Given the description of an element on the screen output the (x, y) to click on. 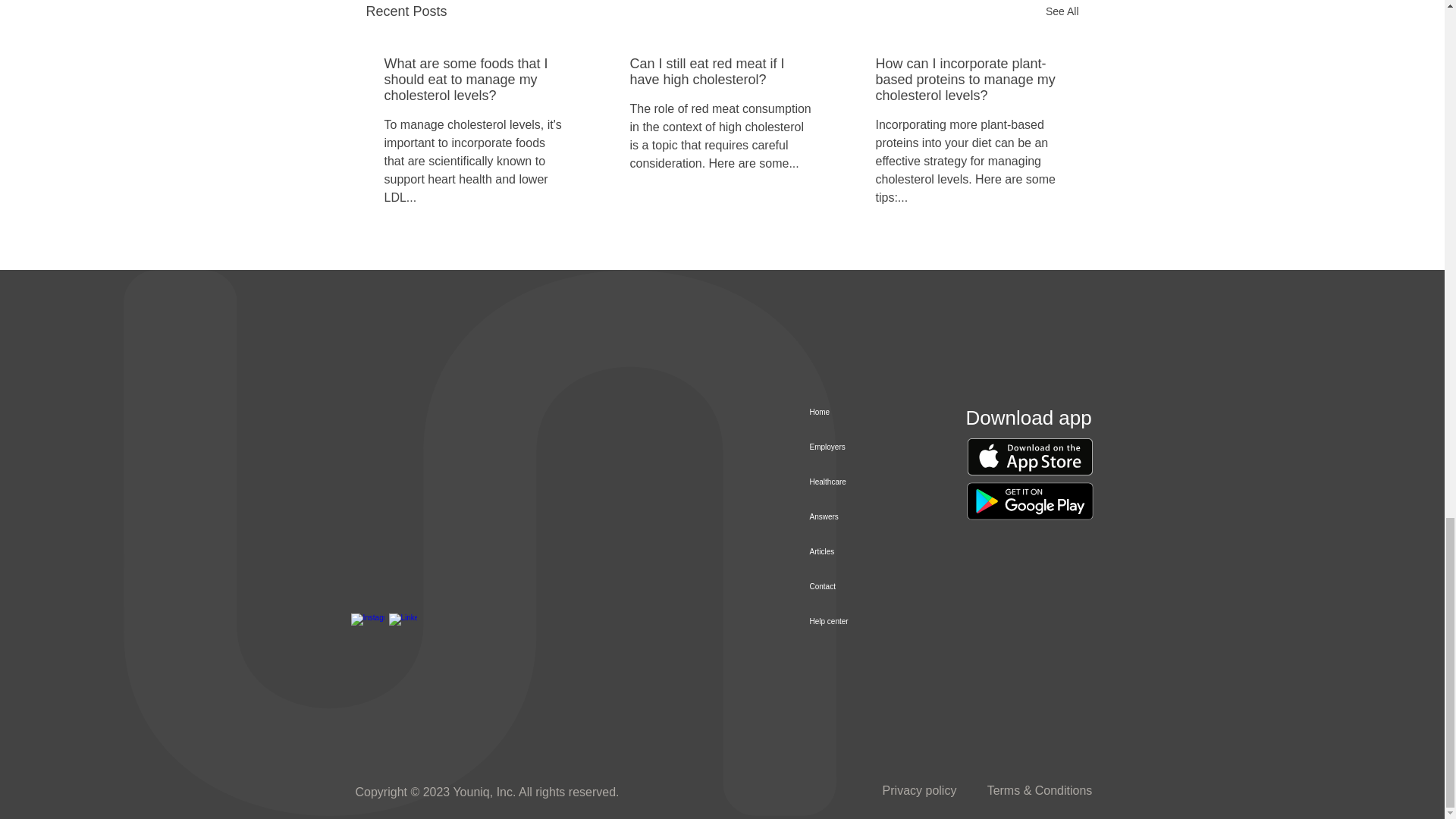
Answers (846, 516)
Employers (846, 447)
Help center (846, 621)
Contact (846, 586)
Healthcare (846, 482)
Privacy policy (919, 789)
Home (846, 411)
Articles (846, 551)
